Given the description of an element on the screen output the (x, y) to click on. 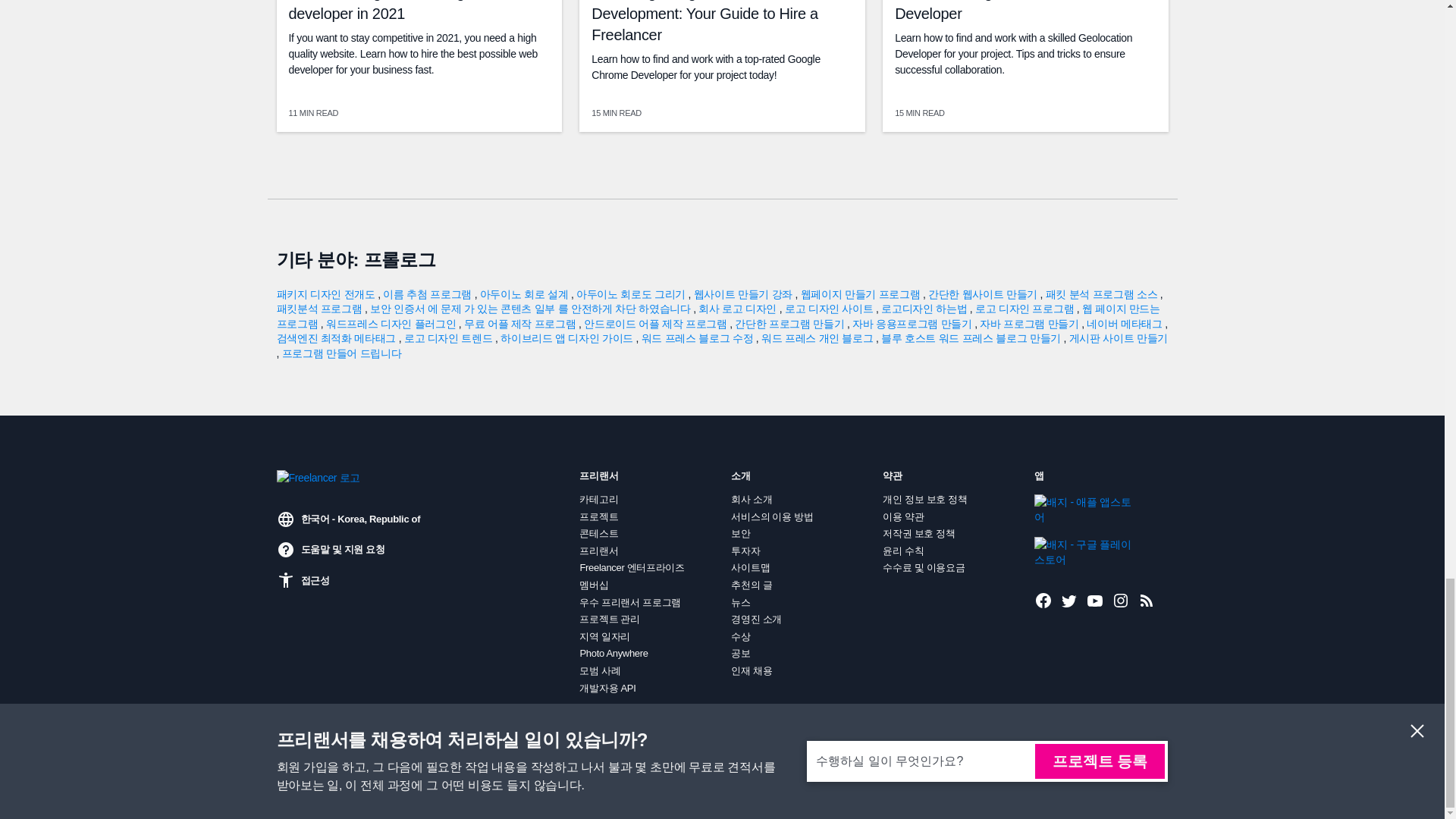
The ultimate guide to hiring a web developer in 2021 (397, 11)
Guide to Hiring a Geolocation Developer (990, 11)
